Given the description of an element on the screen output the (x, y) to click on. 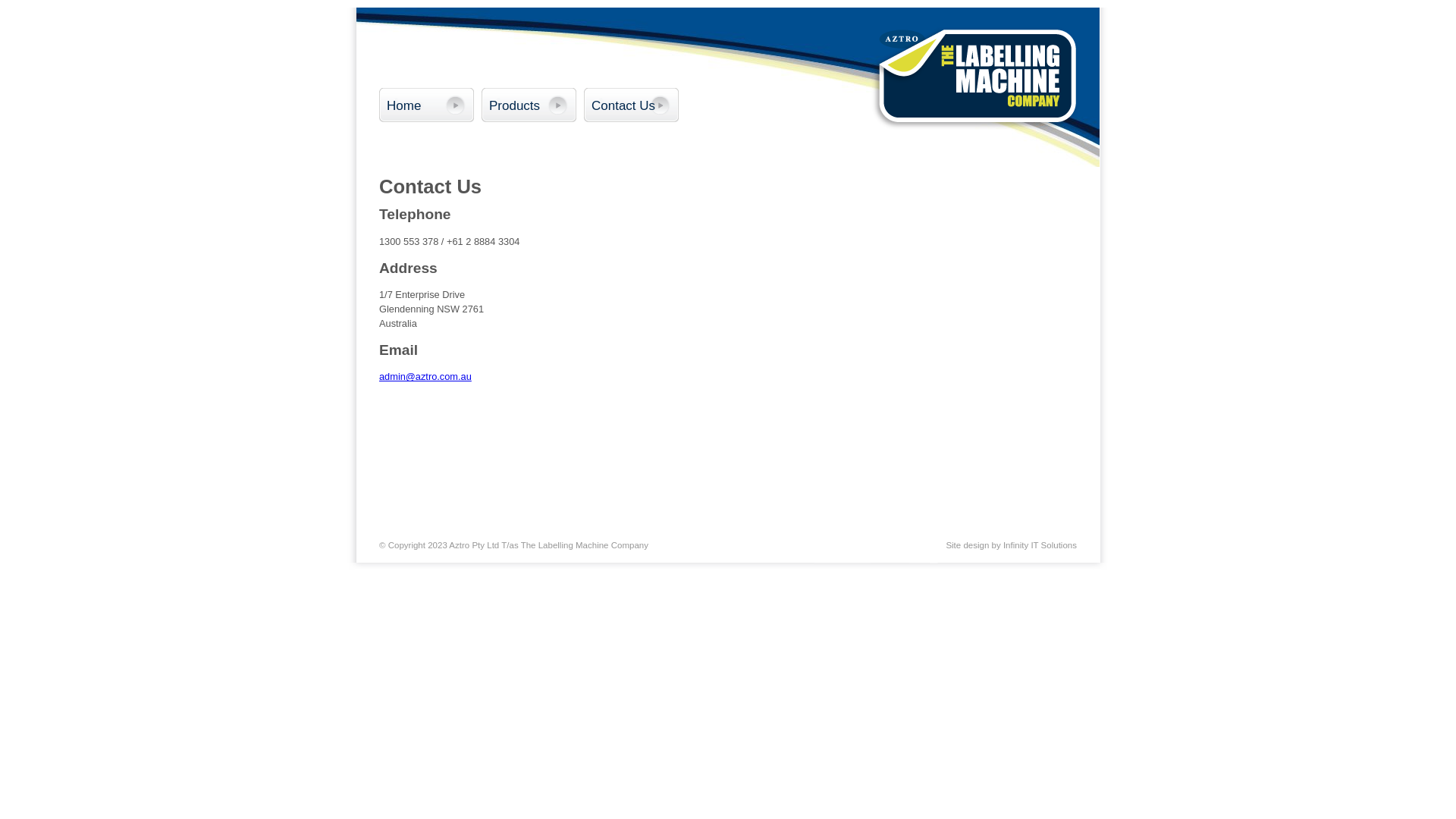
Contact Us Element type: text (630, 105)
admin@aztro.com.au Element type: text (425, 376)
Home Element type: text (426, 105)
Products Element type: text (528, 105)
